Given the description of an element on the screen output the (x, y) to click on. 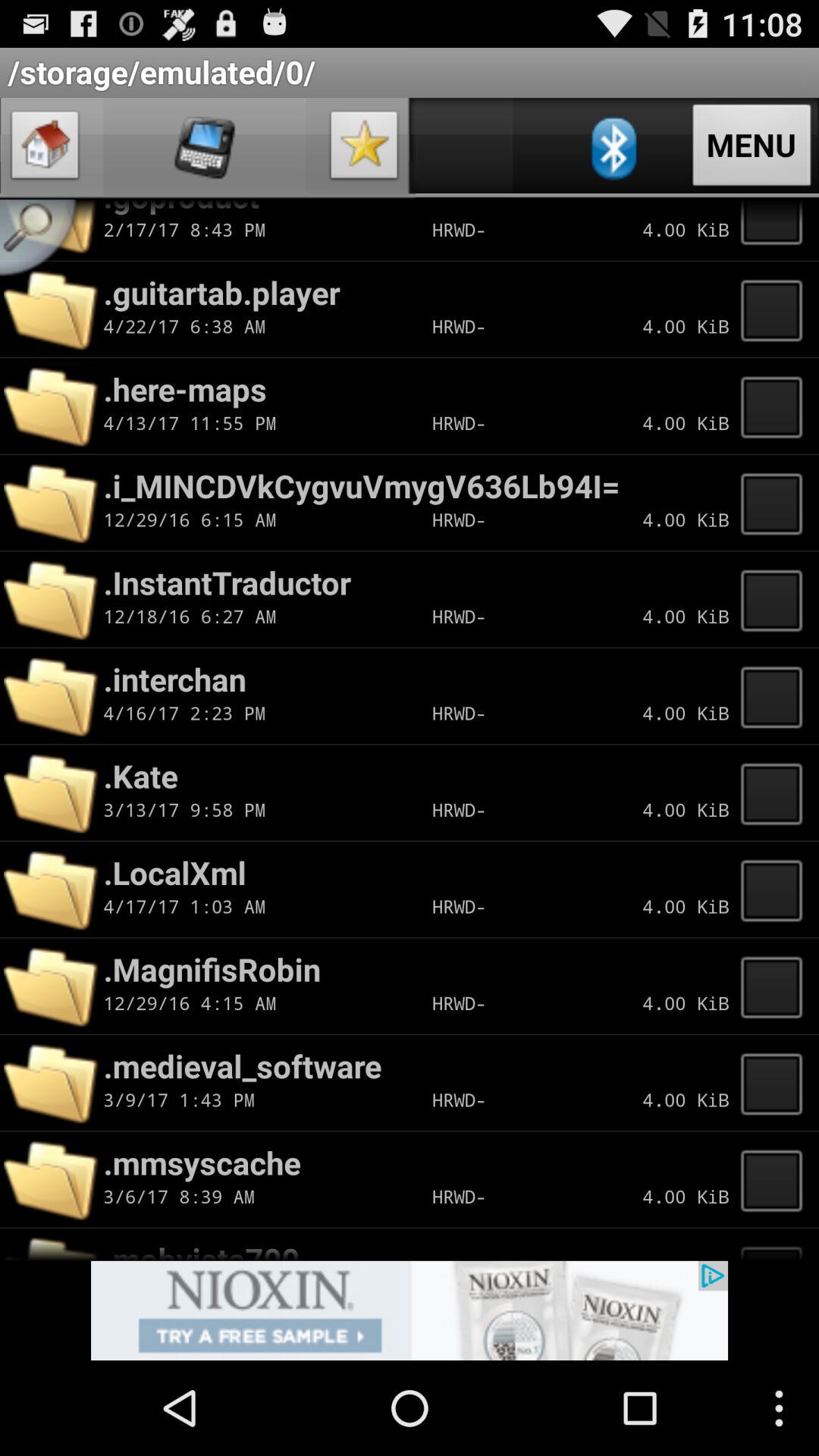
select button (776, 695)
